Given the description of an element on the screen output the (x, y) to click on. 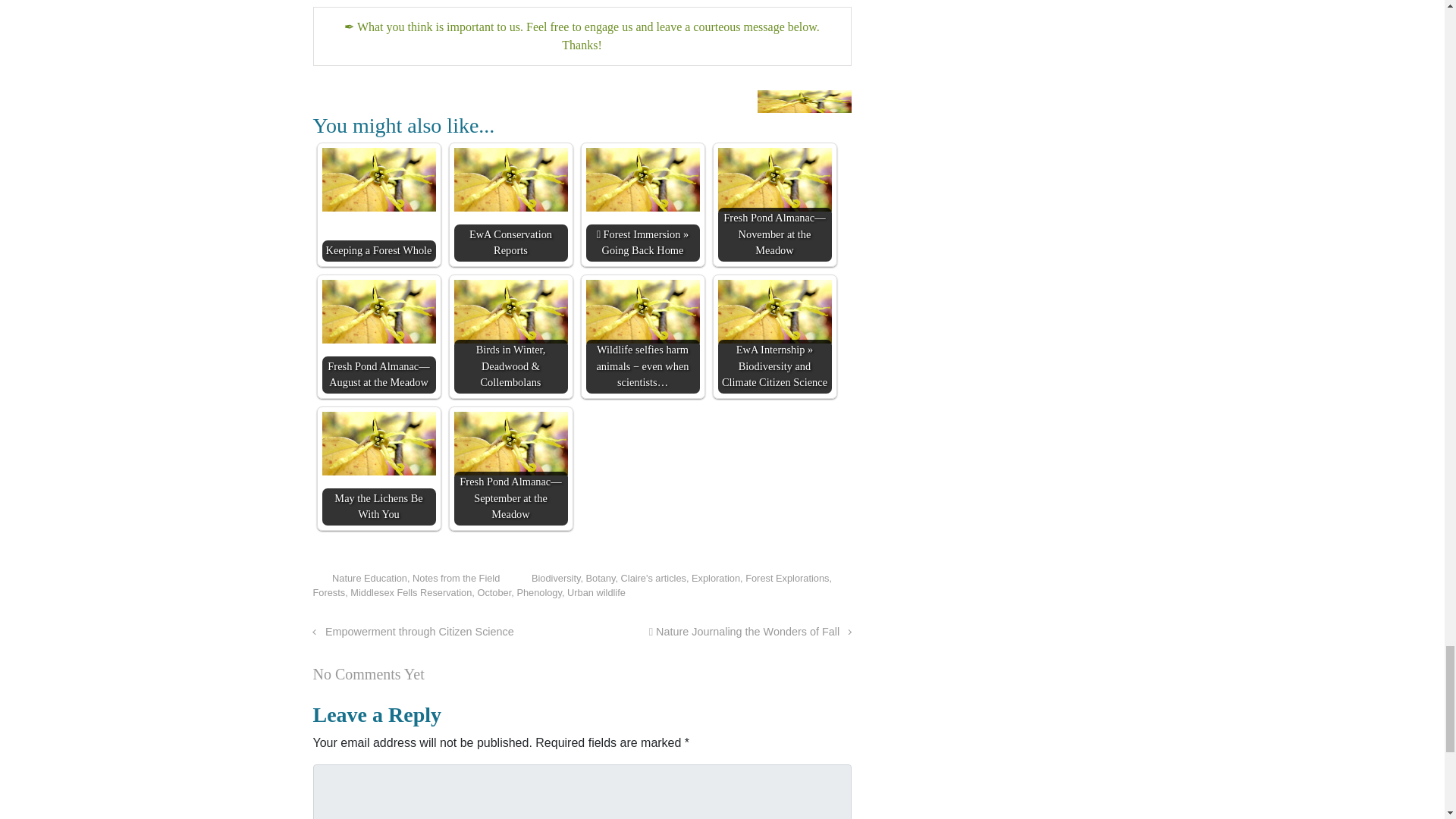
EwA Conservation Reports (509, 179)
May the Lichens Be With You (378, 443)
Keeping a Forest Whole (378, 179)
